Given the description of an element on the screen output the (x, y) to click on. 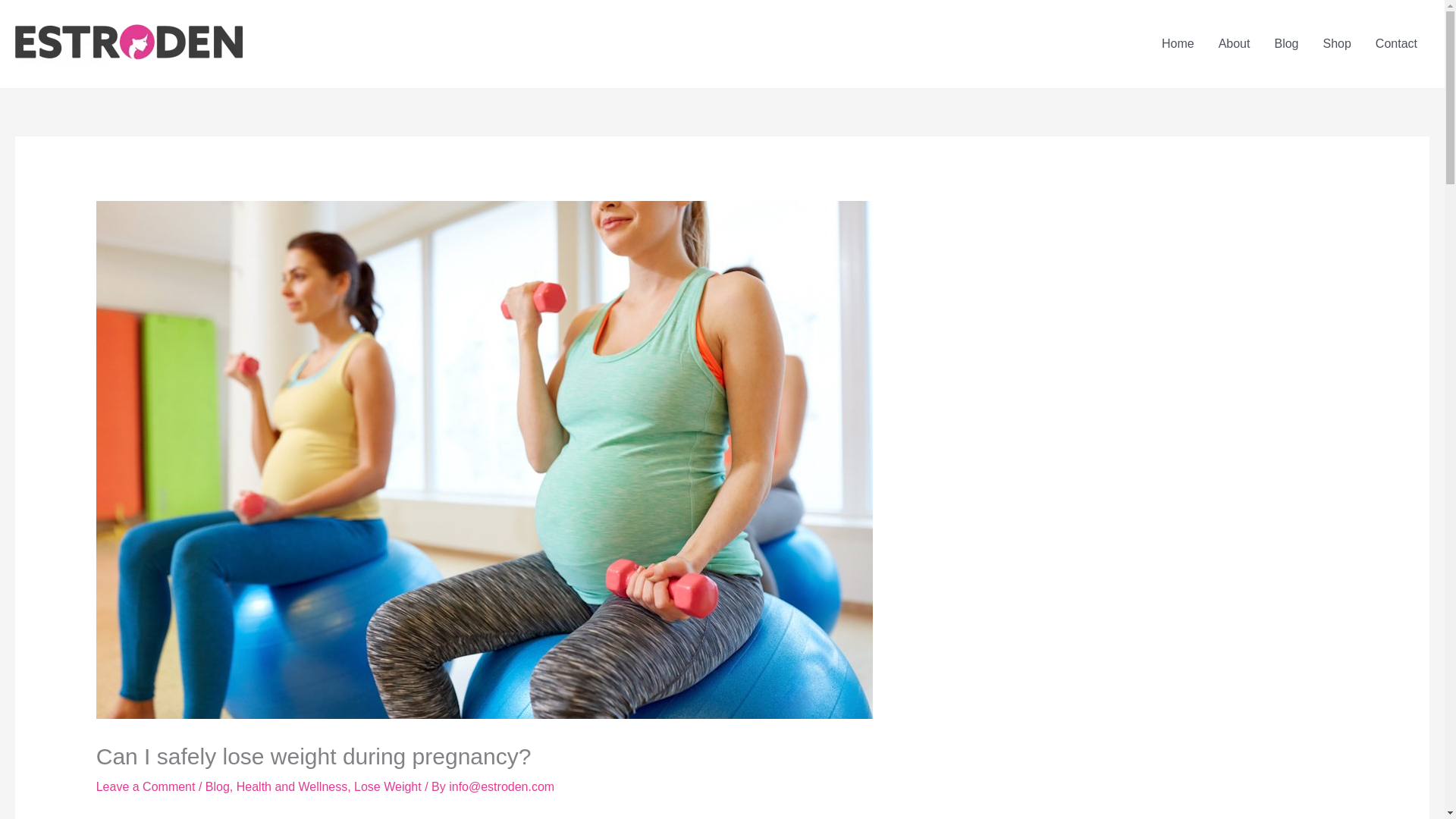
Blog (217, 786)
Blog (1286, 43)
Health and Wellness (291, 786)
About (1234, 43)
Leave a Comment (145, 786)
Shop (1336, 43)
Contact (1395, 43)
Home (1178, 43)
Lose Weight (387, 786)
